Given the description of an element on the screen output the (x, y) to click on. 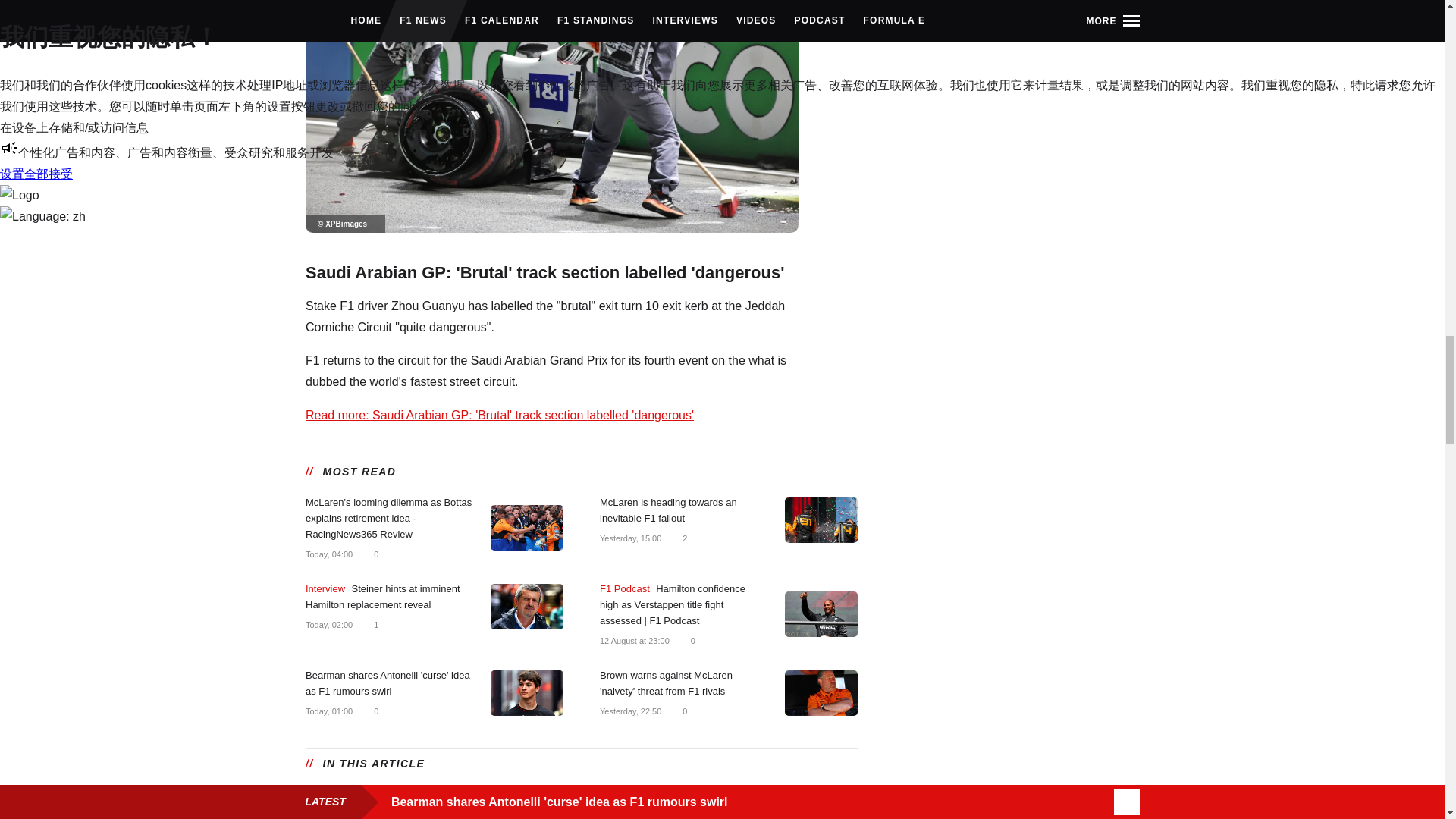
Wednesday 14 August 2024 at 15:00 (629, 537)
Thursday 15 August 2024 at 01:00 (328, 711)
Thursday 15 August 2024 at 04:00 (328, 553)
Thursday 15 August 2024 at 02:00 (328, 624)
Wednesday 14 August 2024 at 22:50 (629, 711)
Monday 12 August 2024 at 23:00 (633, 640)
